Given the description of an element on the screen output the (x, y) to click on. 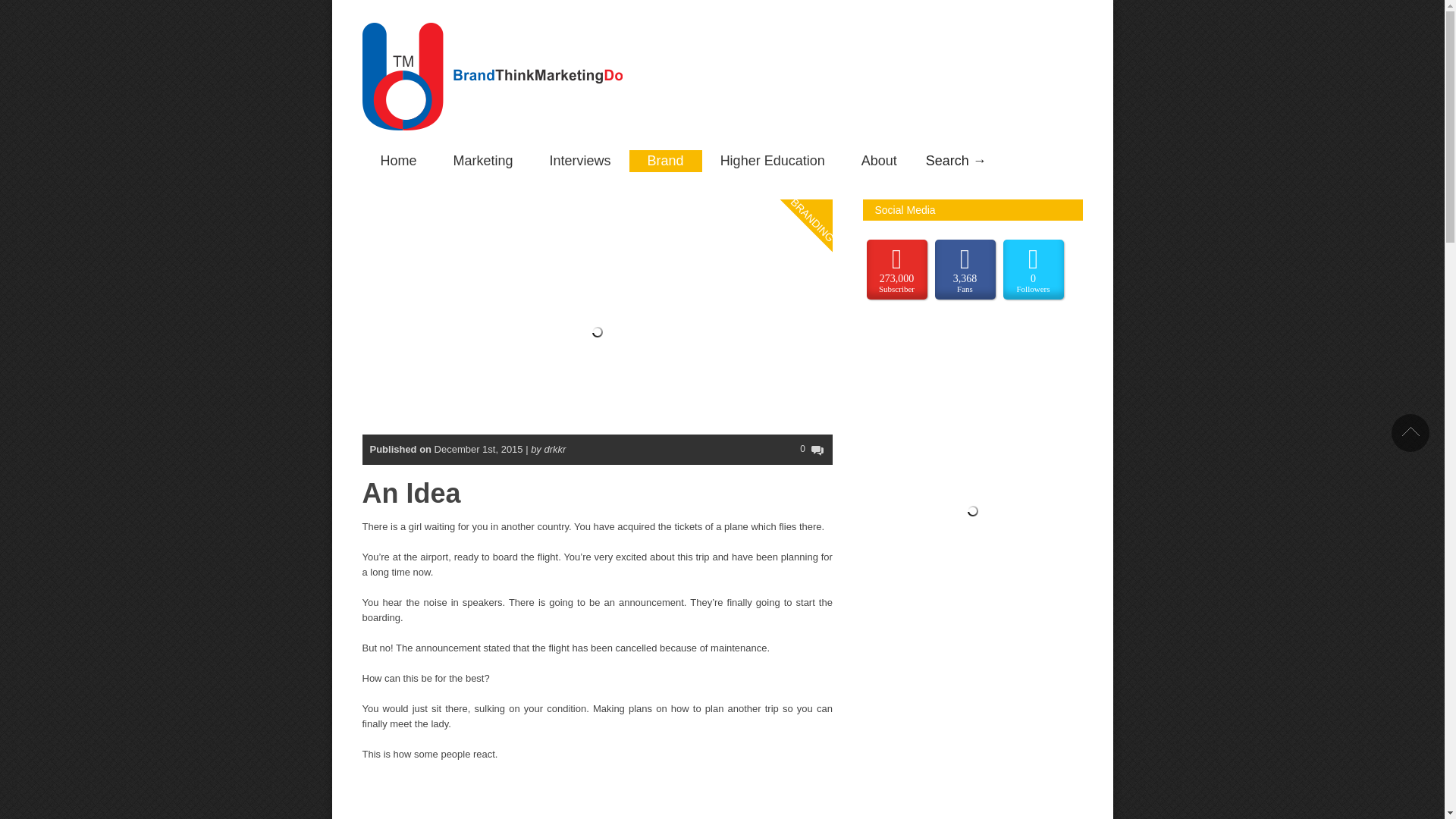
BRANDING (828, 157)
Marketing (483, 160)
Brand (664, 160)
Interviews (579, 160)
About (879, 160)
Home (398, 160)
Higher Education (772, 160)
